Given the description of an element on the screen output the (x, y) to click on. 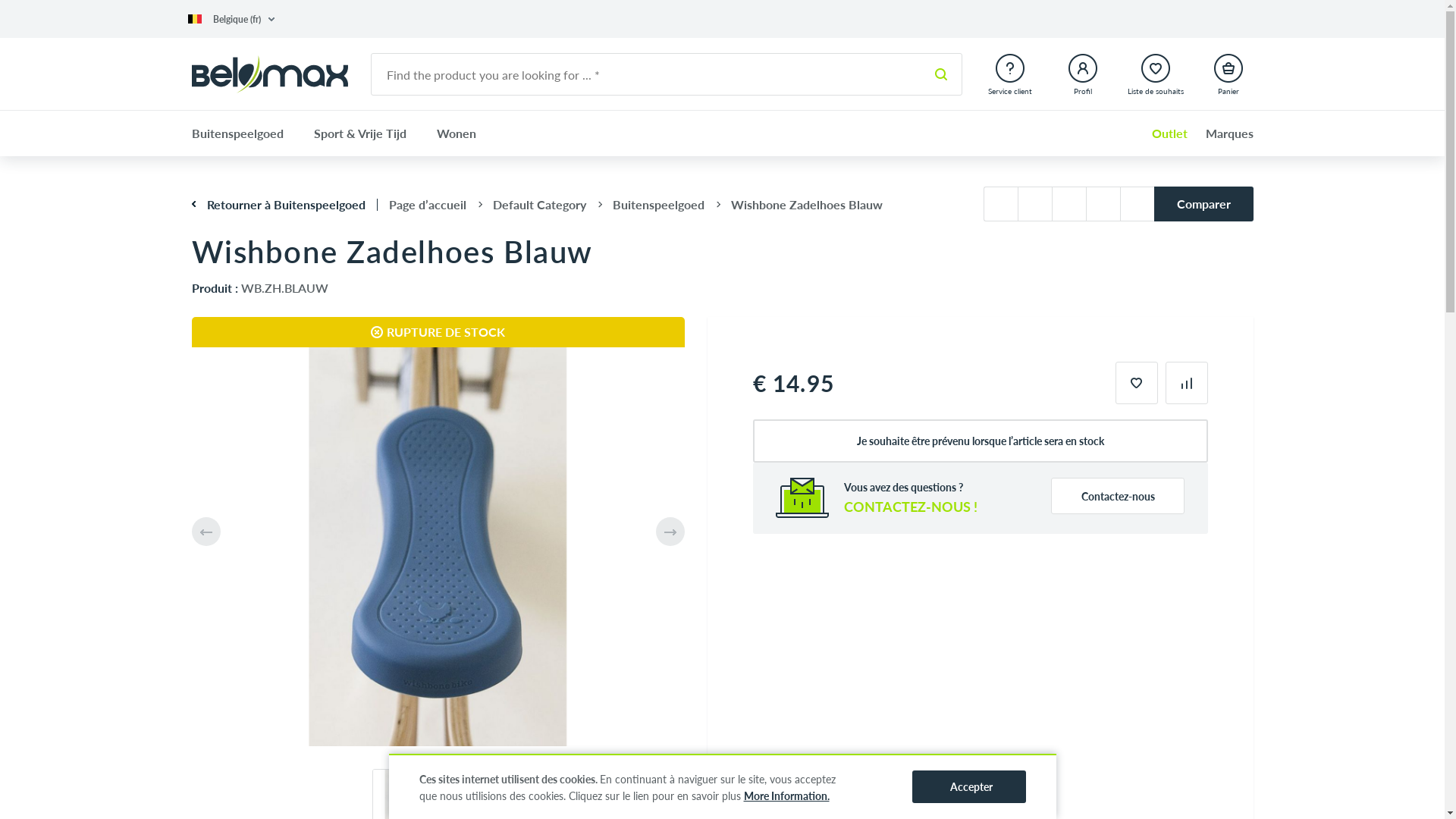
Wonen Element type: text (456, 133)
Sport & Vrije Tijd Element type: text (359, 133)
Comparer Element type: text (1203, 203)
Outlet Element type: text (1160, 133)
Marques Element type: text (1221, 133)
More Information. Element type: text (785, 795)
Contactez-nous Element type: text (1118, 495)
Accepter Element type: text (968, 786)
Buitenspeelgoed Element type: text (244, 133)
Buitenspeelgoed Element type: text (658, 204)
Page d'accueil Element type: hover (269, 74)
Default Category Element type: text (539, 204)
